Given the description of an element on the screen output the (x, y) to click on. 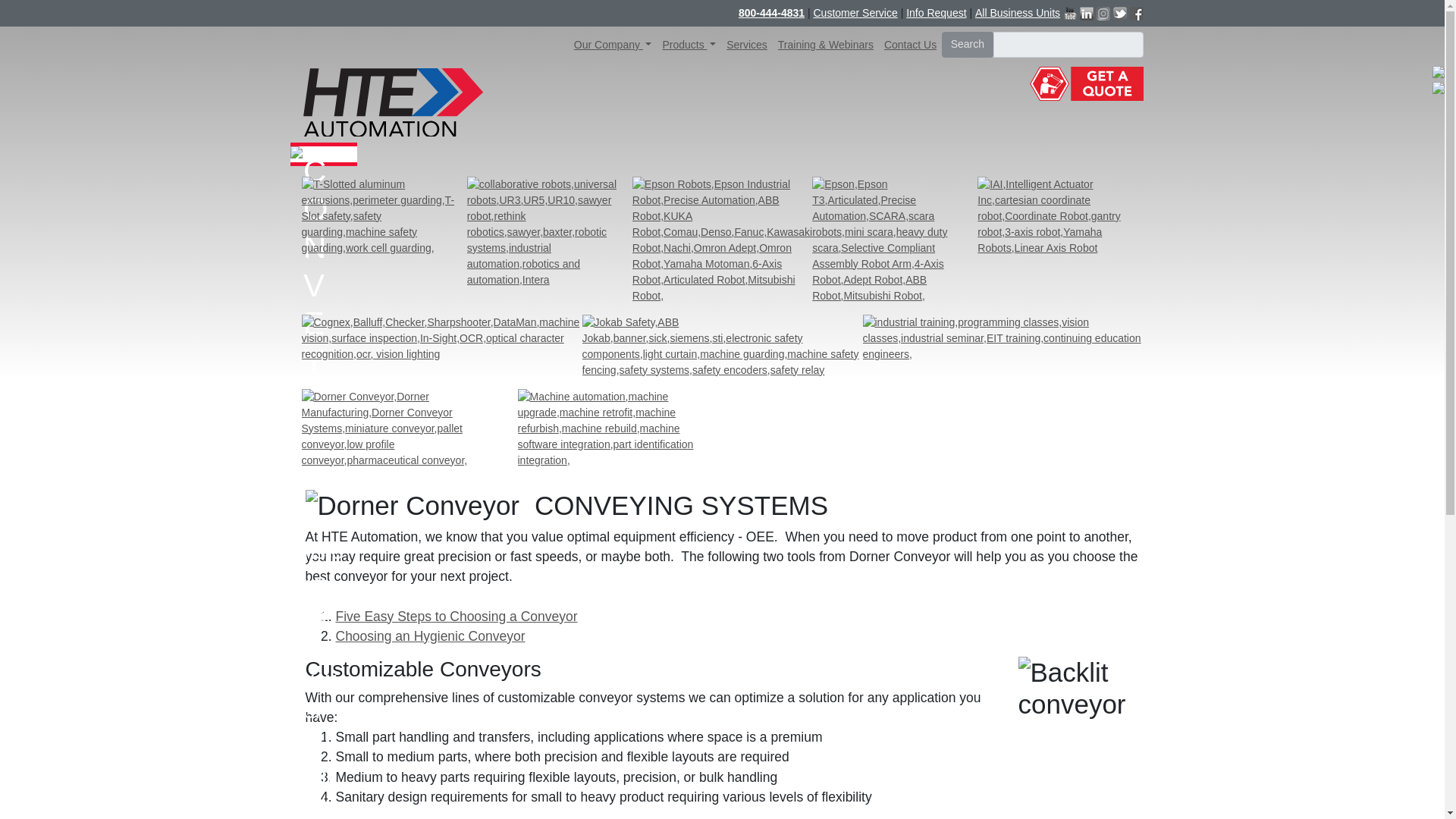
Machine Vision (441, 337)
Contact Us (910, 44)
Search (967, 44)
Industrial Training (1002, 337)
Collaborative Robot (549, 231)
Info Request (935, 12)
SCARA Robot (894, 239)
Machine Safety (722, 345)
Value Added Engineering (613, 427)
Products (688, 44)
Customer Service (854, 12)
Machine Fencing (384, 215)
Industrial Conveyors (398, 427)
Industrial Robot (721, 239)
Cartesian Robot (1059, 215)
